Given the description of an element on the screen output the (x, y) to click on. 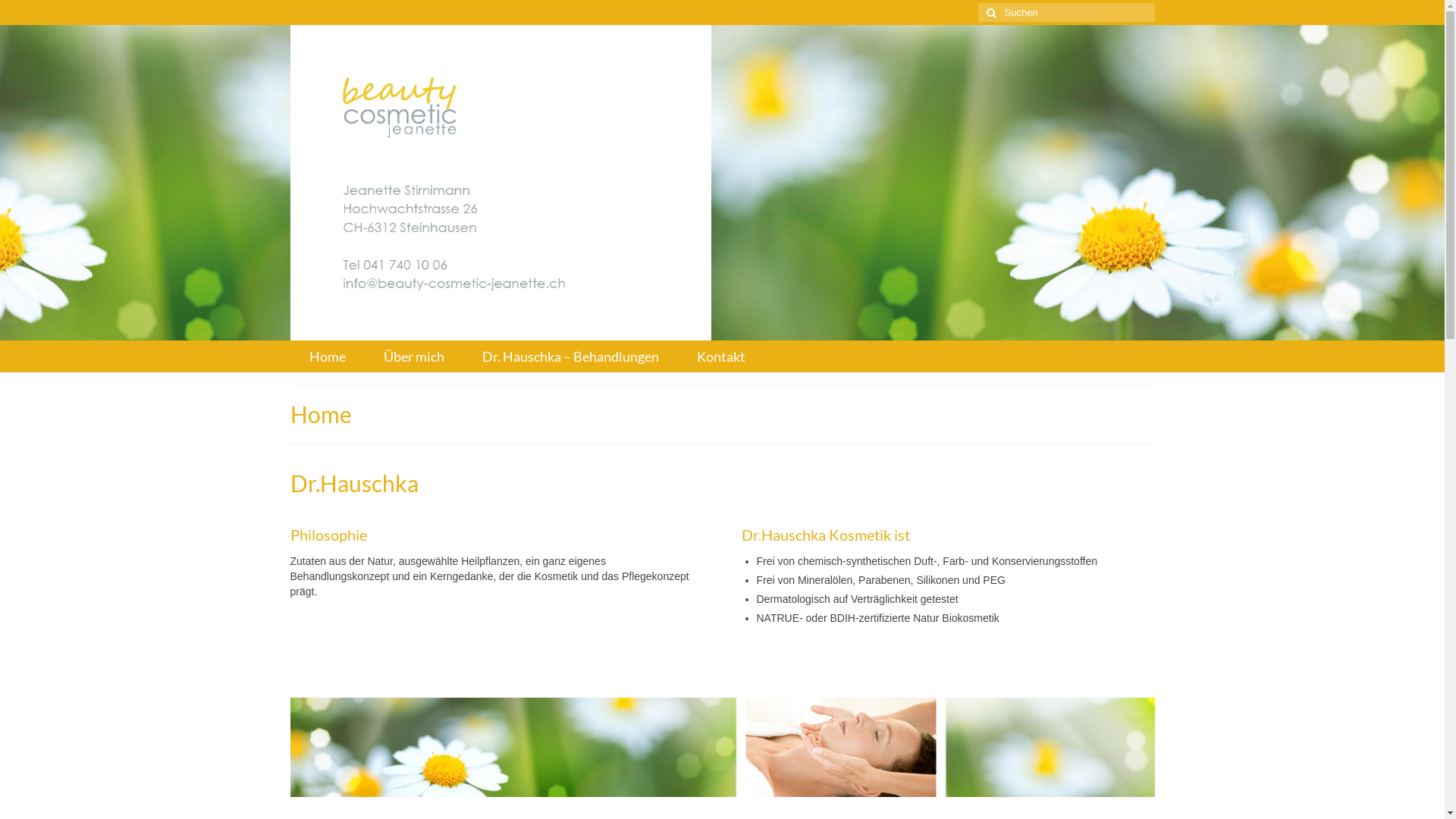
Kontakt Element type: text (720, 356)
Home Element type: text (327, 356)
